Given the description of an element on the screen output the (x, y) to click on. 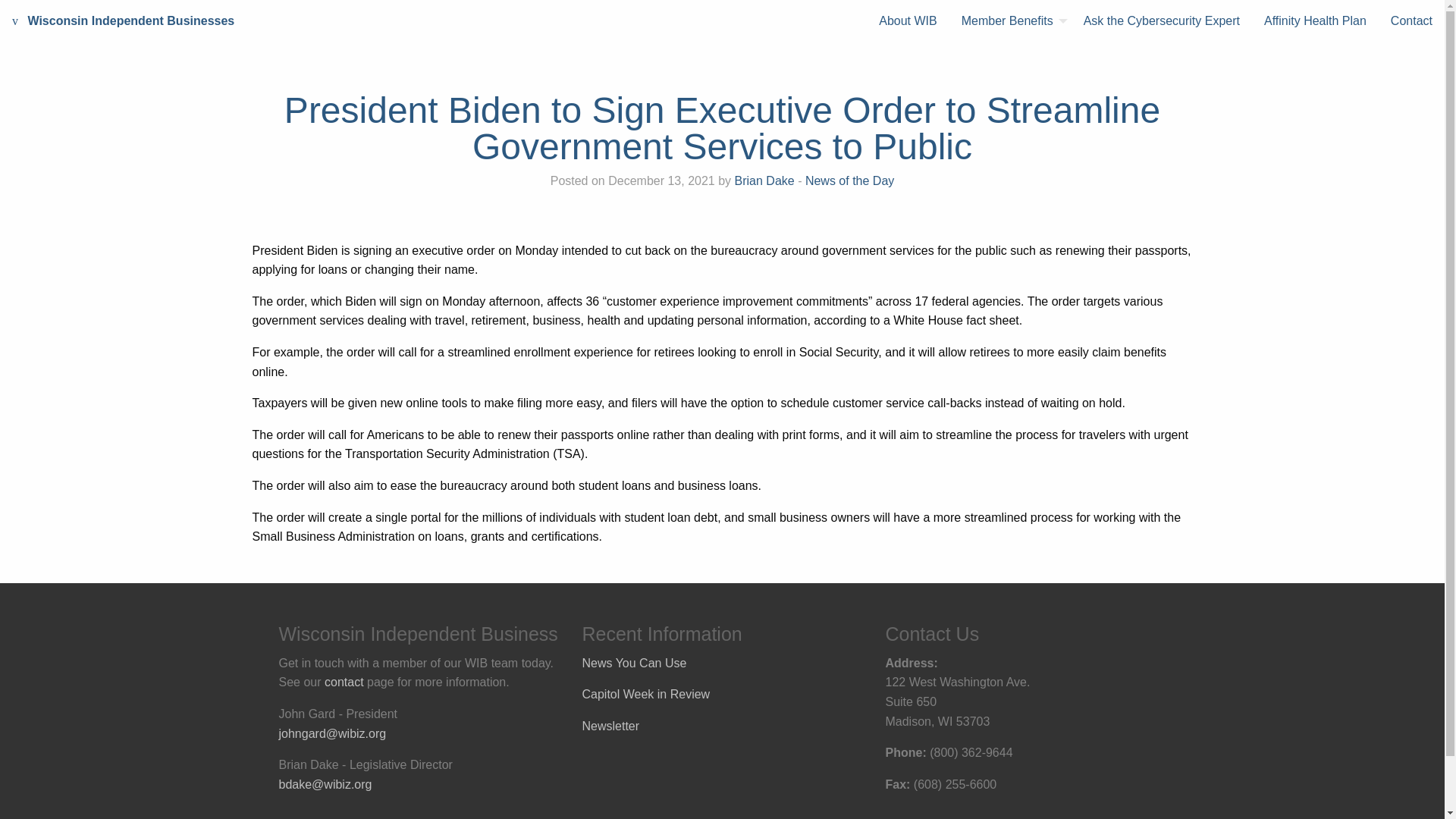
News of the Day (849, 180)
News You Can Use (634, 662)
Posts by Brian Dake (764, 180)
Newsletter (611, 725)
contact (344, 681)
Brian Dake (764, 180)
Ask the Cybersecurity Expert (1161, 21)
Capitol Week in Review (646, 694)
wisconsin Wisconsin Independent Businesses (123, 21)
Member Benefits (1010, 21)
About WIB (907, 21)
Affinity Health Plan (1315, 21)
